Given the description of an element on the screen output the (x, y) to click on. 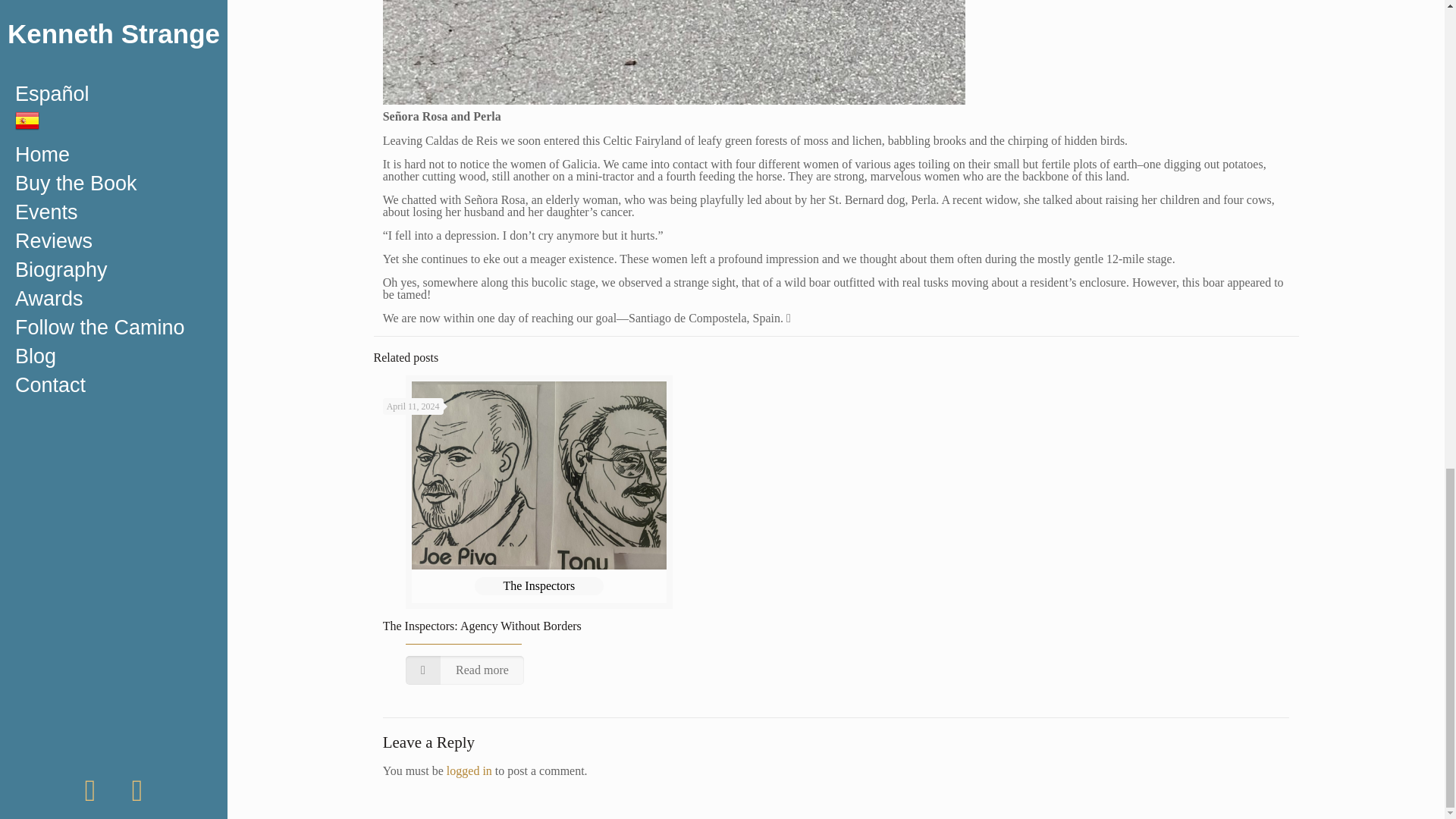
logged in (469, 770)
Read more (465, 670)
The Inspectors: Agency Without Borders (481, 625)
